Given the description of an element on the screen output the (x, y) to click on. 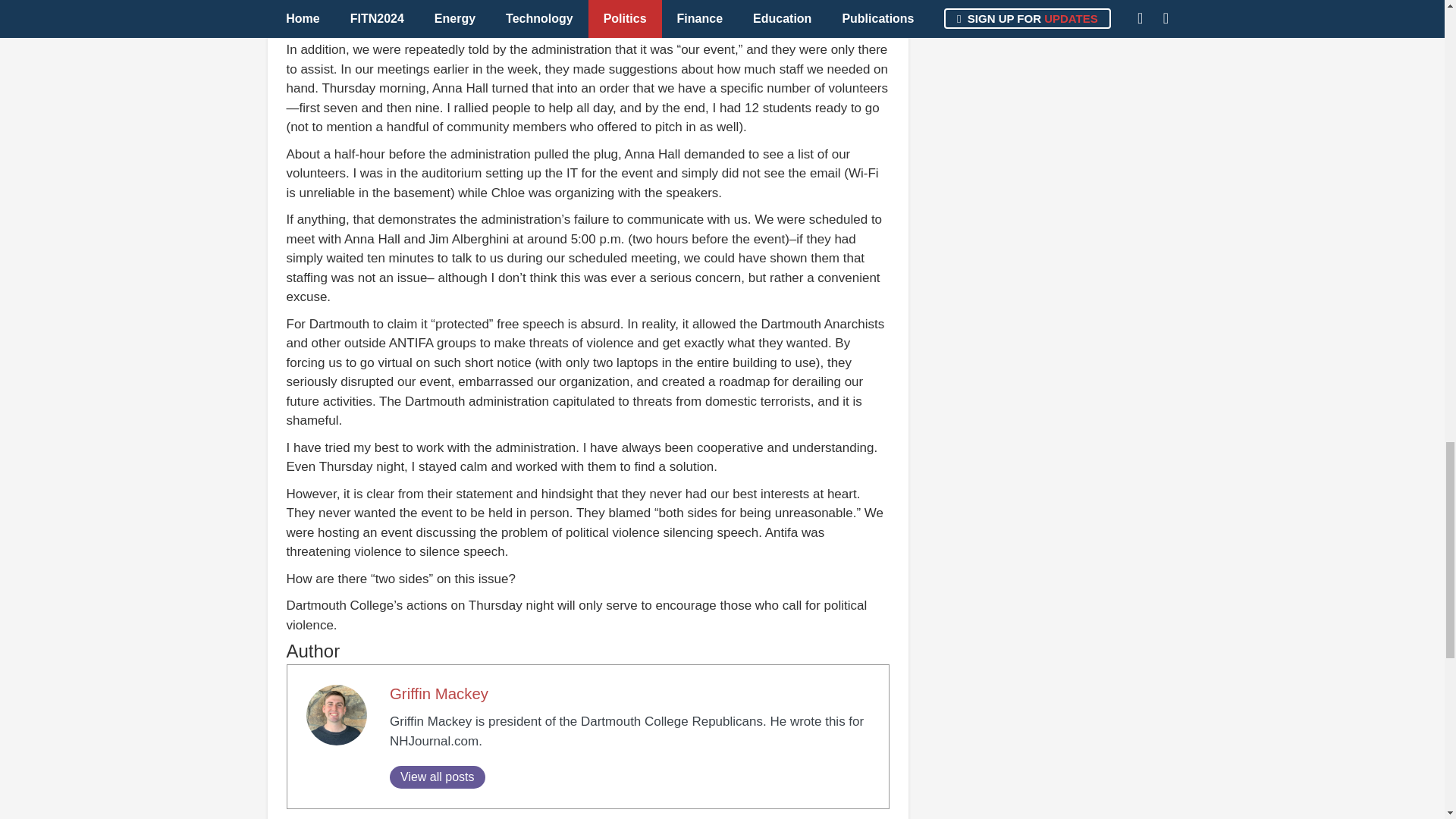
Griffin Mackey (438, 693)
View all posts (437, 776)
Griffin Mackey (438, 693)
View all posts (437, 776)
